Given the description of an element on the screen output the (x, y) to click on. 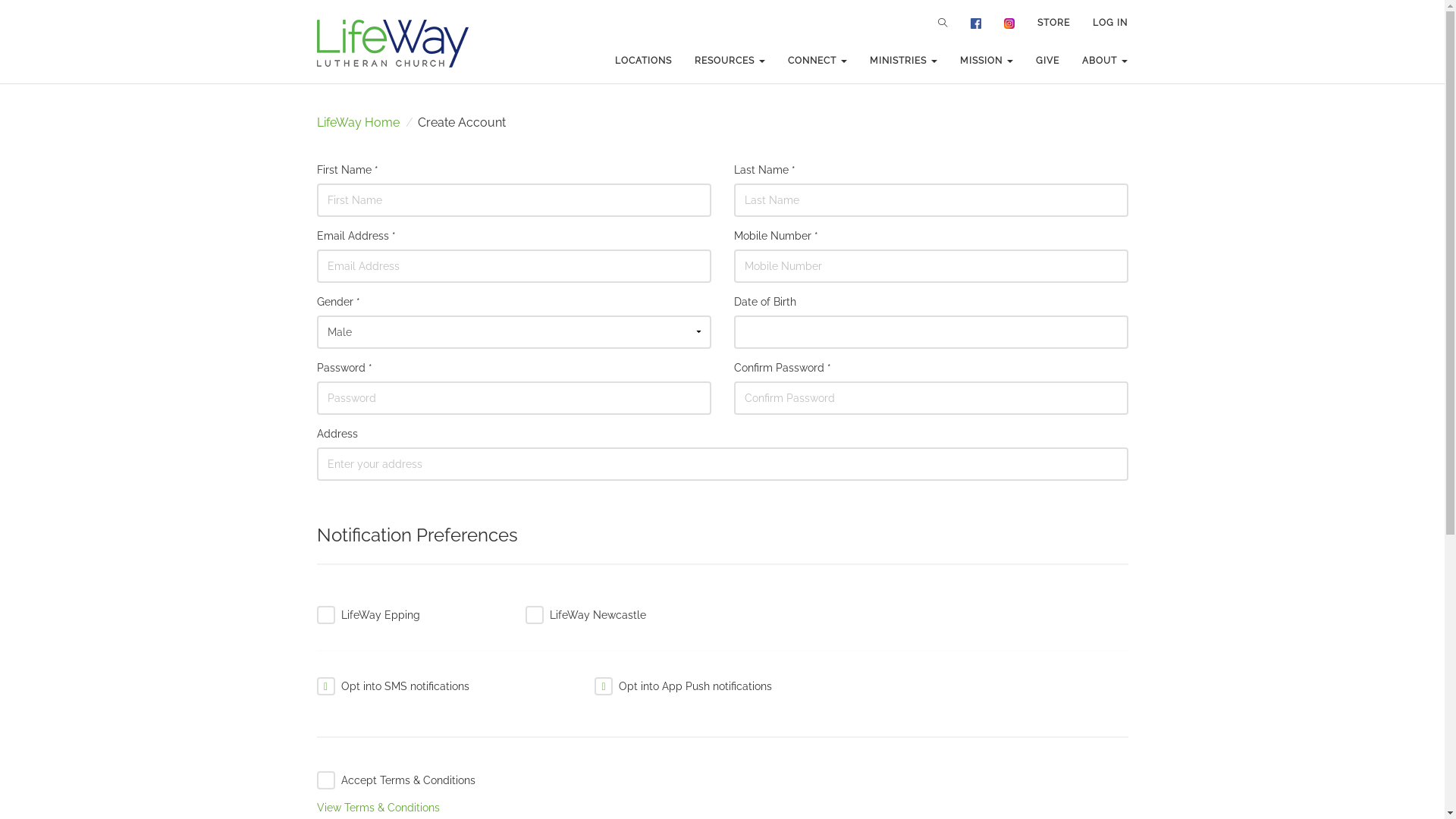
LifeWay Home Element type: text (357, 122)
ABOUT Element type: text (1104, 60)
MINISTRIES Element type: text (903, 60)
GIVE Element type: text (1047, 60)
STORE Element type: text (1053, 22)
CONNECT Element type: text (817, 60)
LOG IN Element type: text (1110, 22)
View Terms & Conditions Element type: text (377, 807)
LOCATIONS Element type: text (643, 60)
RESOURCES Element type: text (729, 60)
MISSION Element type: text (986, 60)
